Given the description of an element on the screen output the (x, y) to click on. 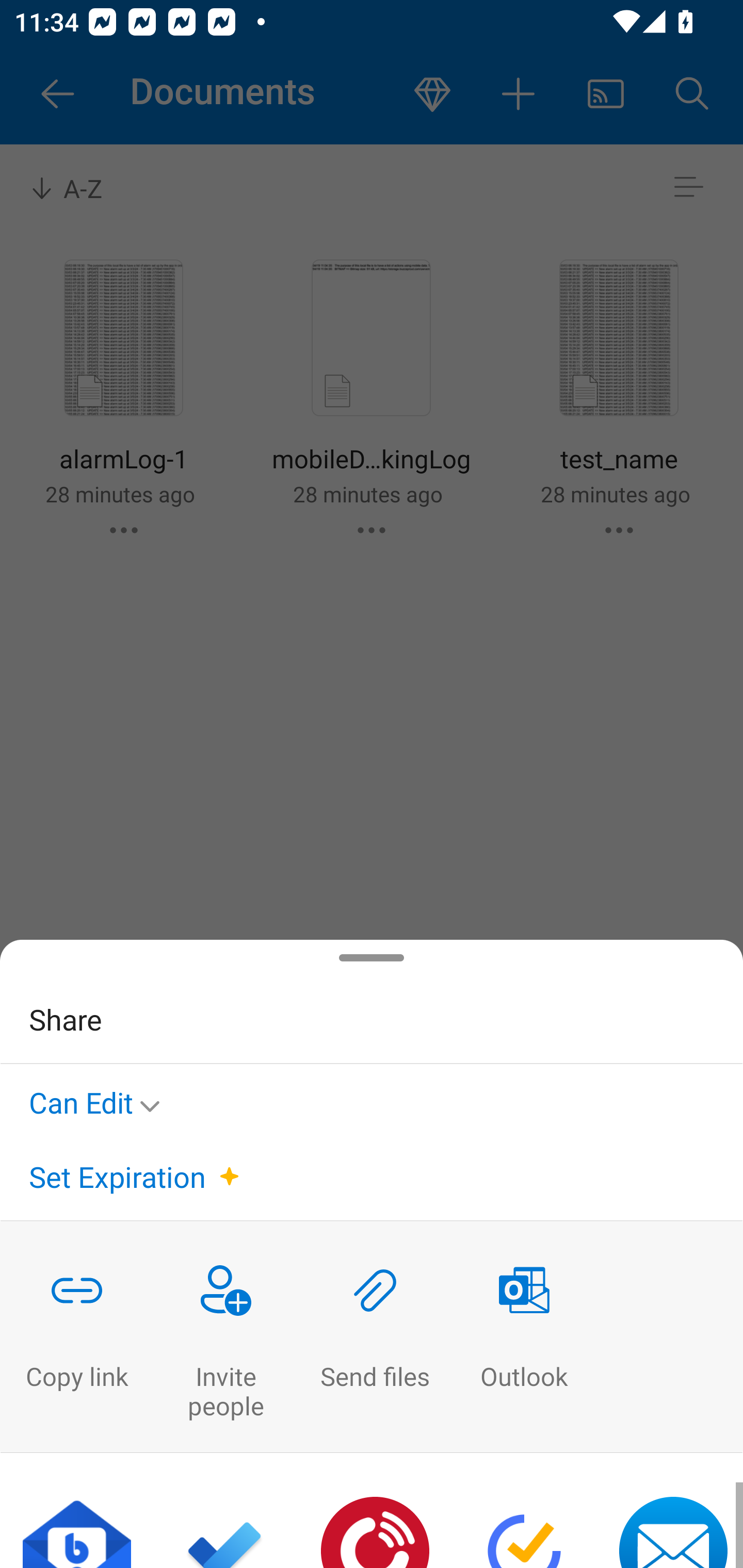
Can Edit (100, 1098)
Set Expiration (117, 1176)
Copy link (76, 1336)
Invite people (225, 1336)
Send files (374, 1336)
Outlook (523, 1336)
